Given the description of an element on the screen output the (x, y) to click on. 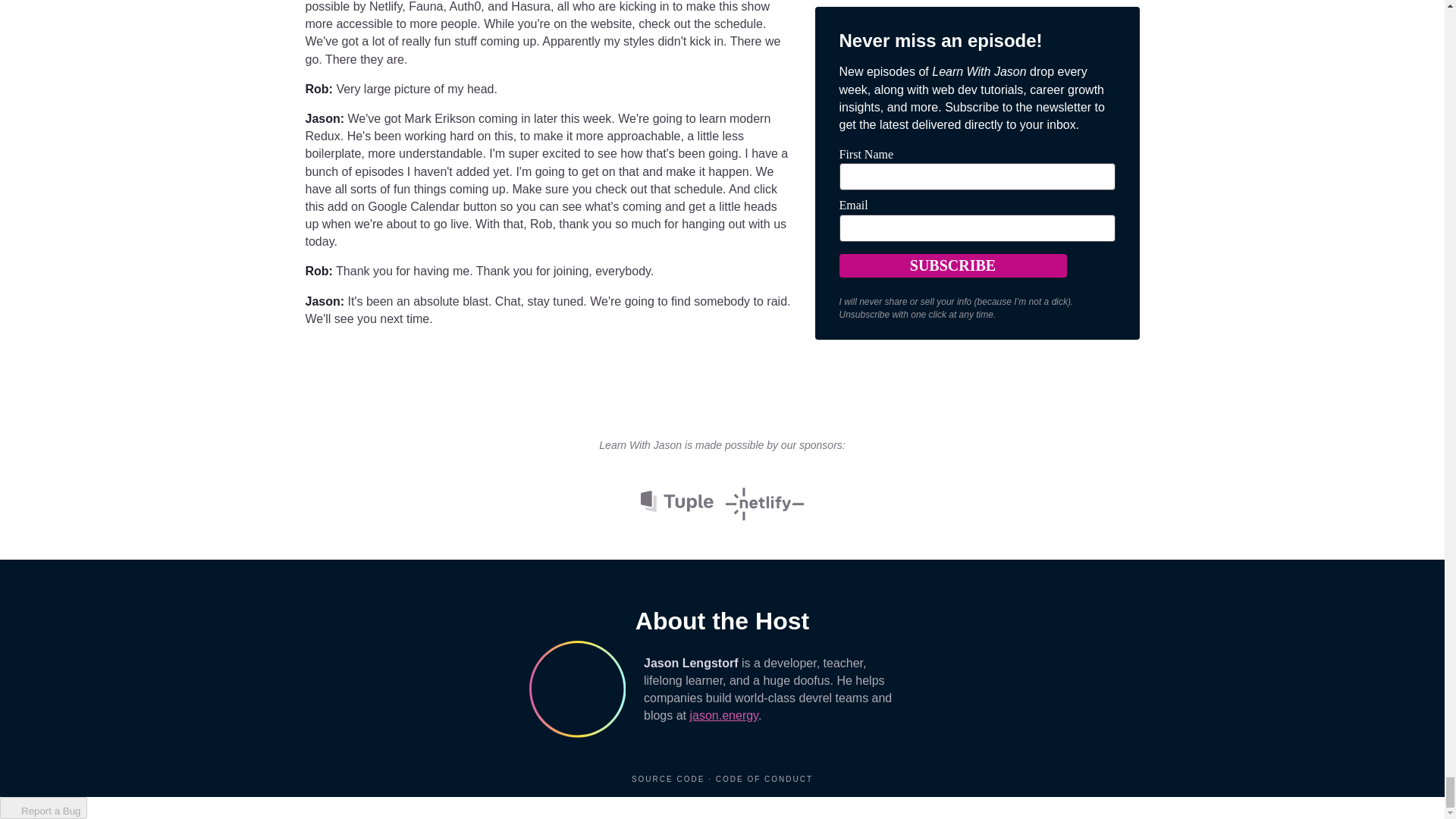
jason.energy (722, 715)
SOURCE CODE (669, 778)
Netlify (764, 500)
CODE OF CONDUCT (764, 778)
